Given the description of an element on the screen output the (x, y) to click on. 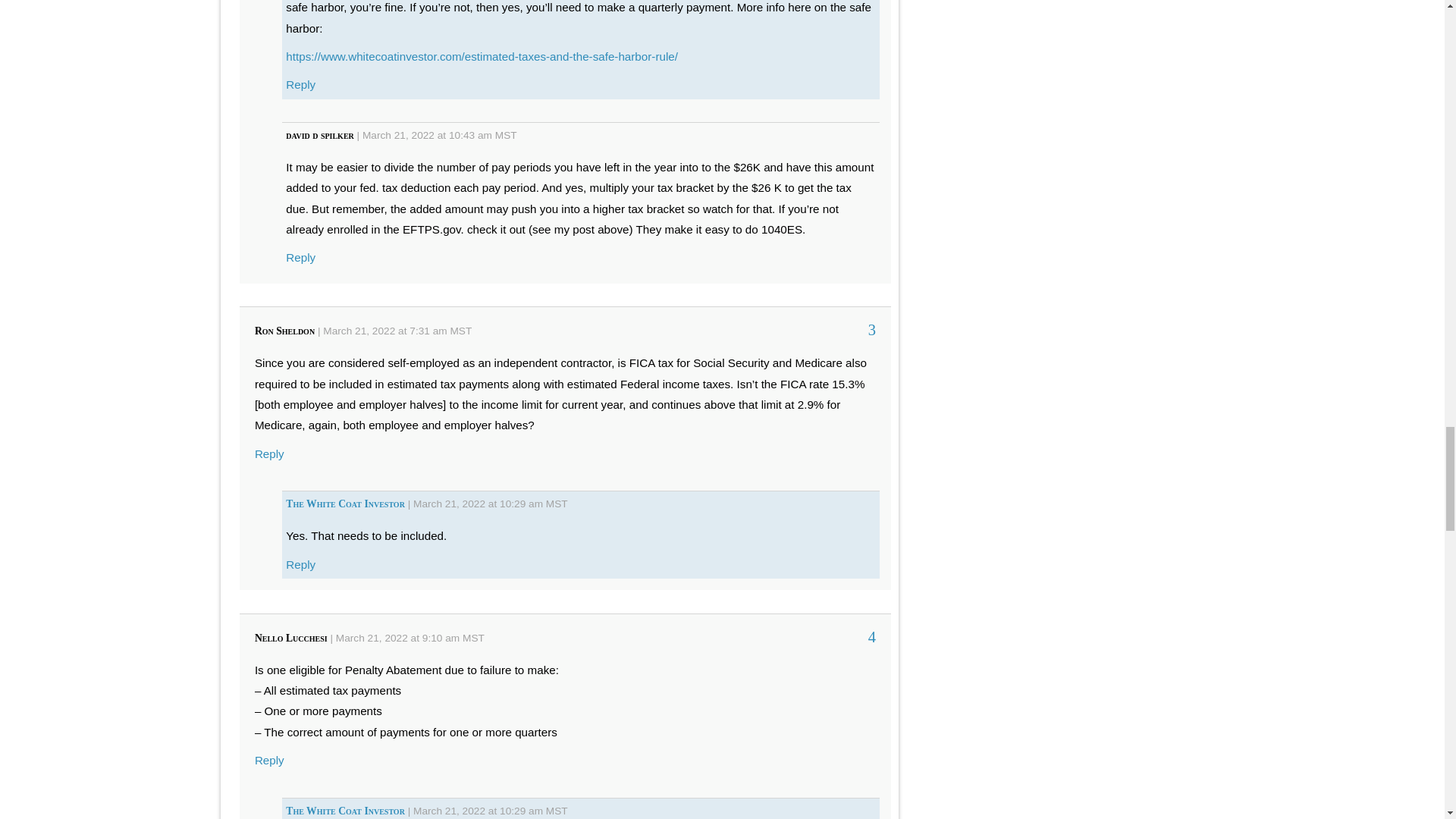
Mountain Standard Time (556, 503)
Mountain Standard Time (505, 134)
Mountain Standard Time (460, 330)
Mountain Standard Time (473, 637)
Mountain Standard Time (556, 810)
